Given the description of an element on the screen output the (x, y) to click on. 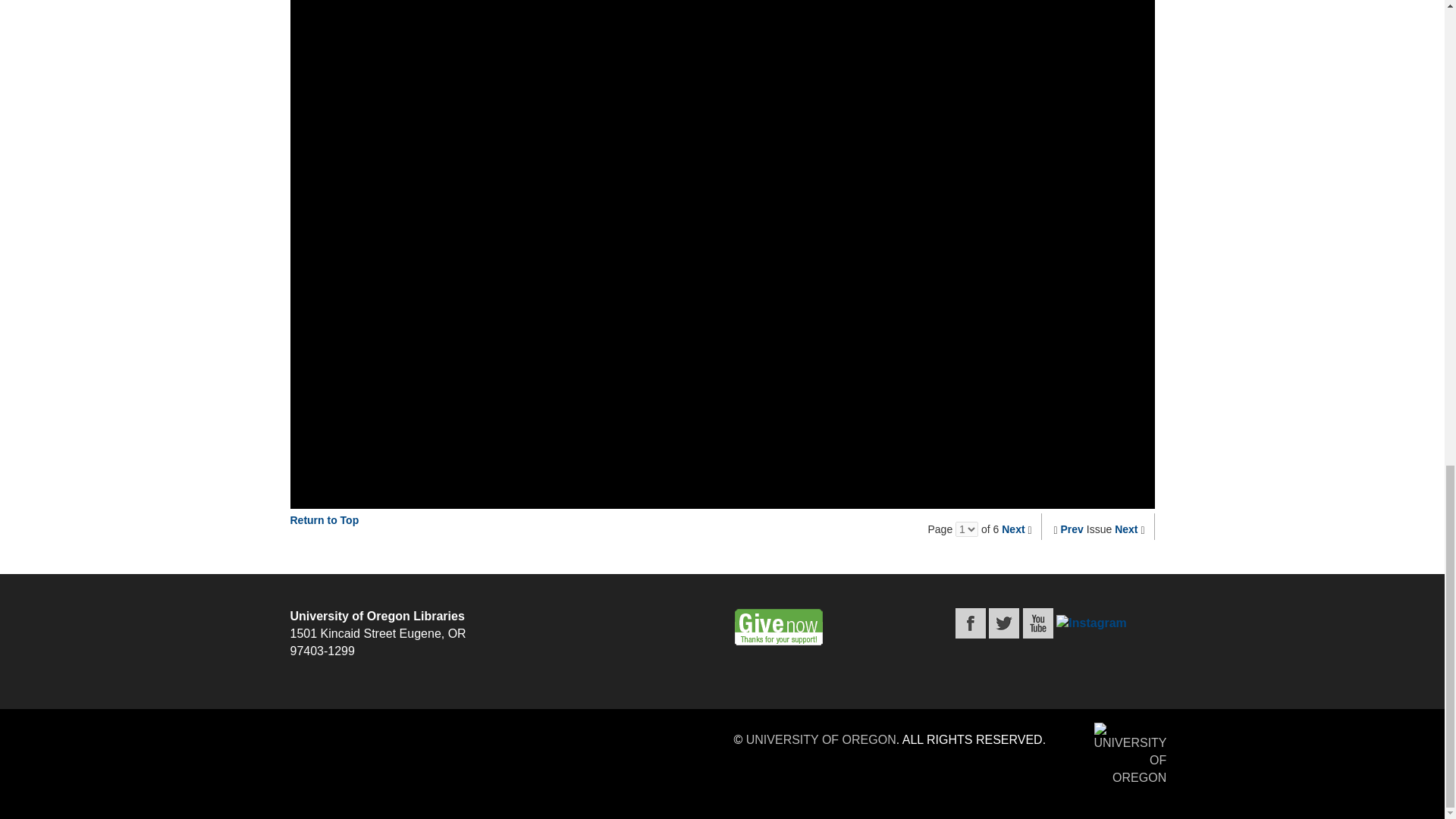
Prev (1072, 529)
Next (1126, 529)
Return to Top (323, 520)
Next (1013, 529)
